Given the description of an element on the screen output the (x, y) to click on. 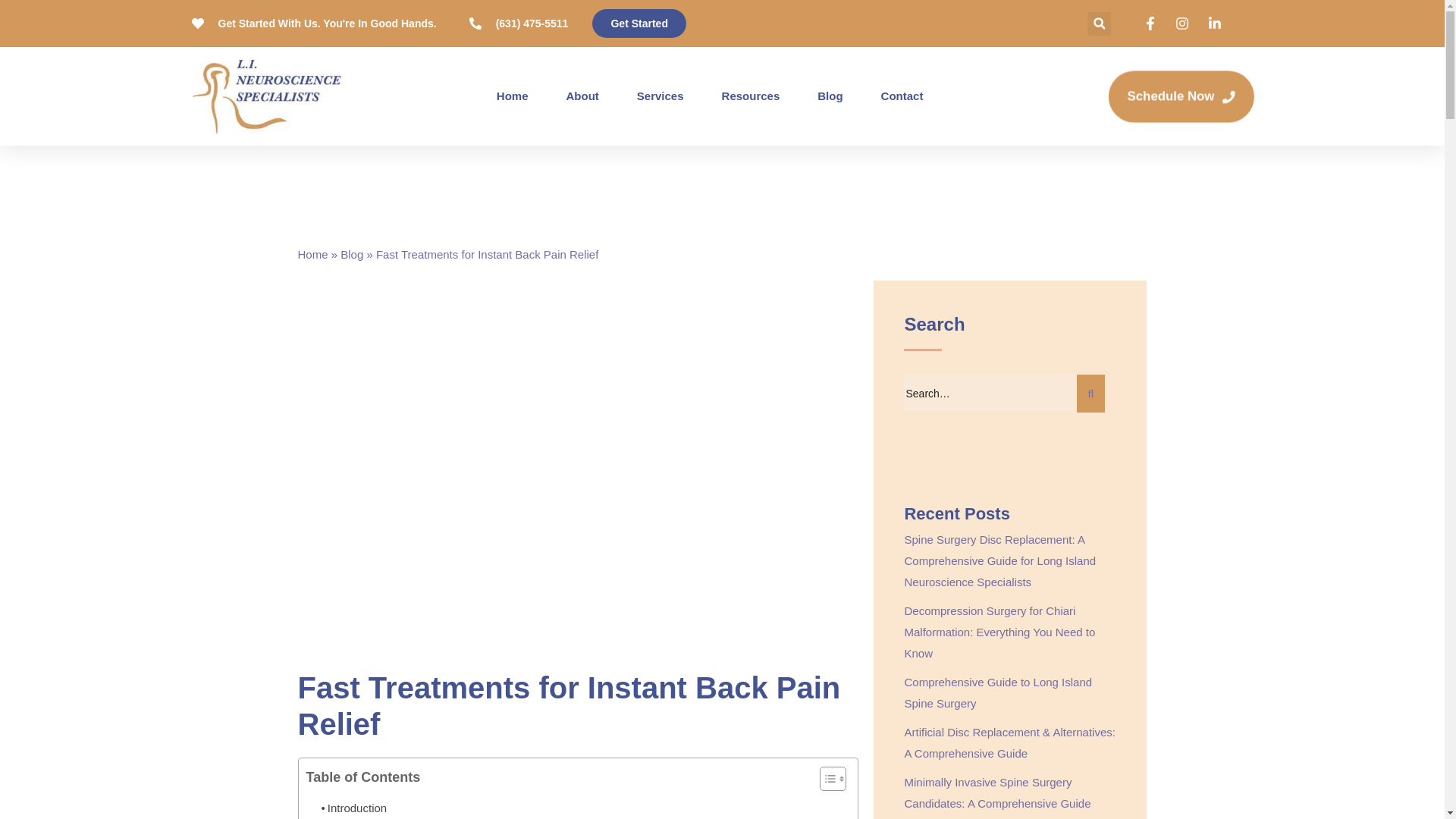
Resources (751, 95)
Contact (901, 95)
Get Started With Us. You're In Good Hands. (312, 23)
Home (512, 95)
Introduction (354, 804)
About (582, 95)
Get Started (638, 23)
Services (660, 95)
